Given the description of an element on the screen output the (x, y) to click on. 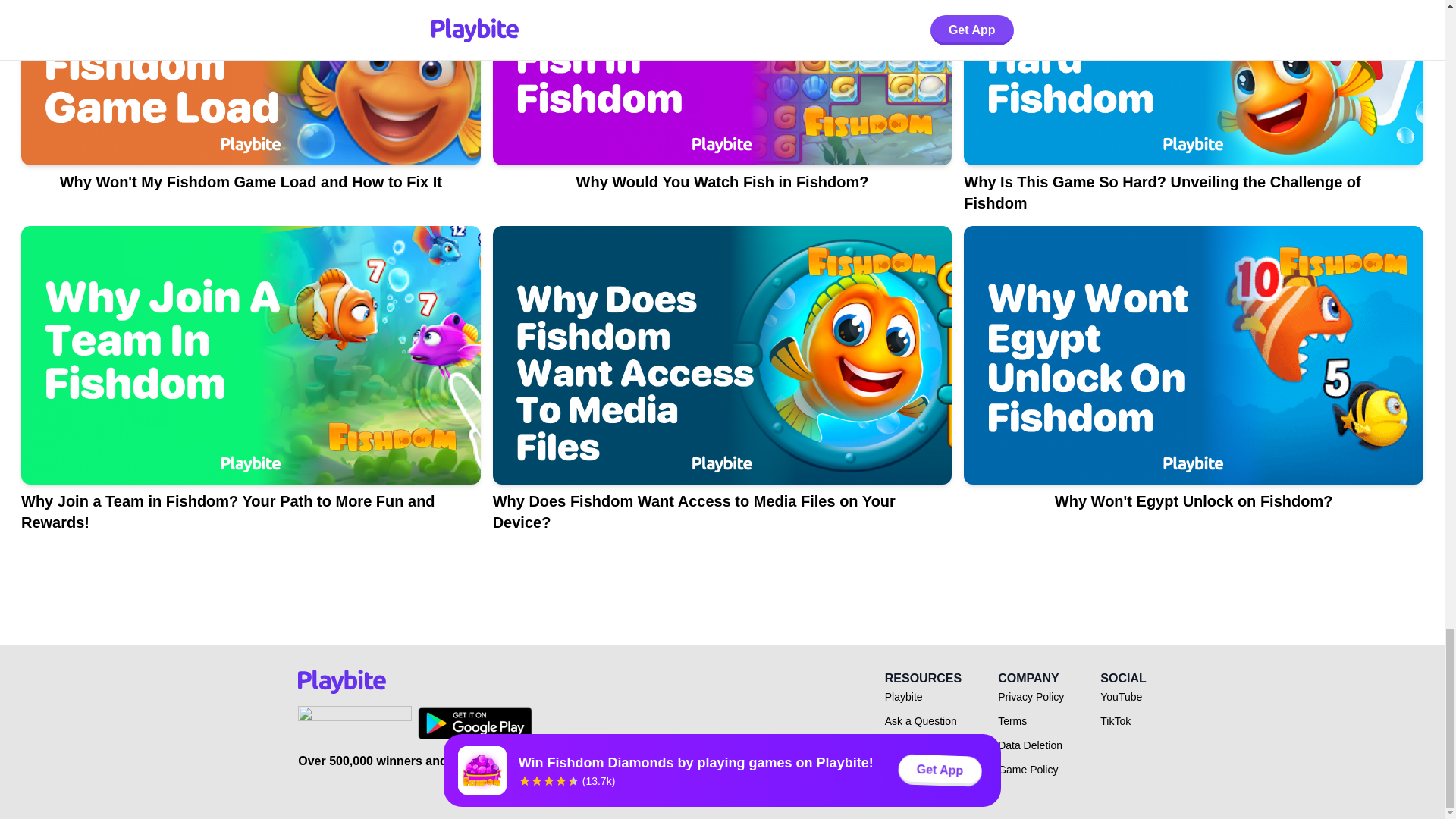
Privacy Policy (1030, 696)
Playbite (904, 696)
TikTok (1115, 720)
Ask a Question (920, 720)
Why Would You Watch Fish in Fishdom? (722, 113)
Data Deletion (1029, 745)
Game Policy (1027, 769)
Why Is This Game So Hard? Unveiling the Challenge of Fishdom (1193, 113)
